Given the description of an element on the screen output the (x, y) to click on. 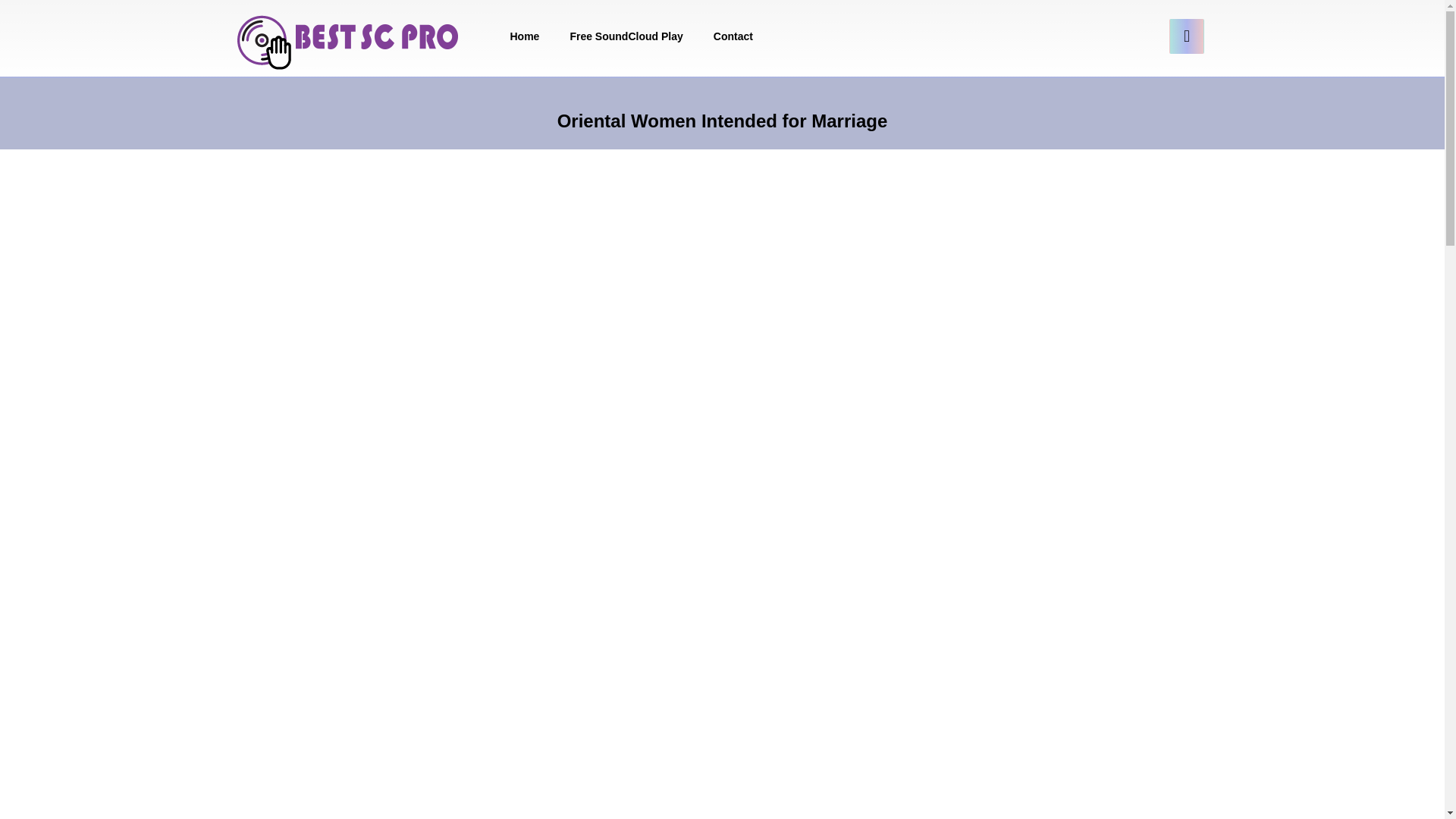
Free SoundCloud Play (626, 36)
Get Promoted your music with our Plays Campaign Package (349, 45)
Contact (733, 36)
Home (524, 36)
